Given the description of an element on the screen output the (x, y) to click on. 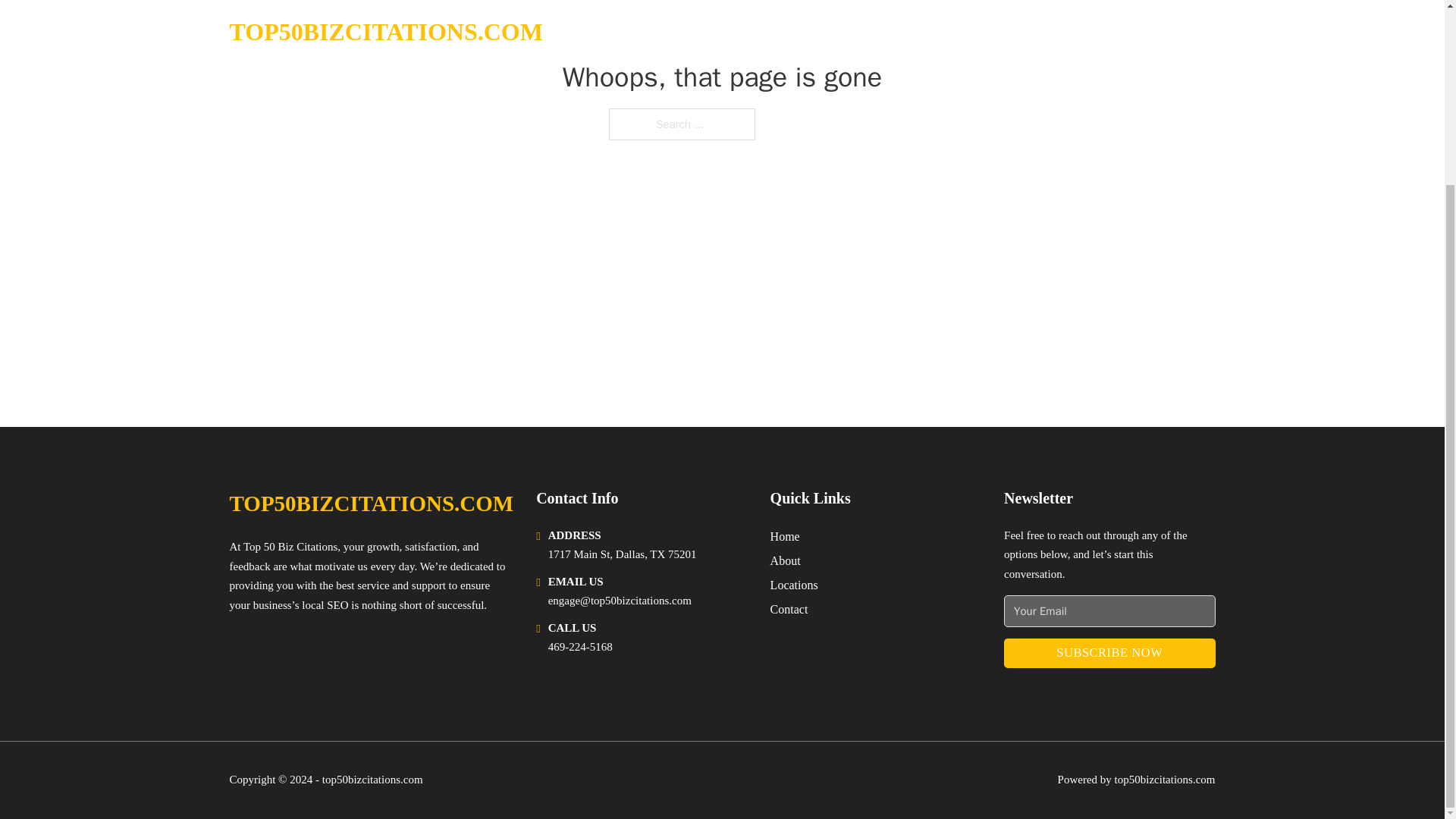
TOP50BIZCITATIONS.COM (370, 503)
About (785, 560)
Contact (789, 608)
Locations (794, 584)
SUBSCRIBE NOW (1109, 653)
469-224-5168 (580, 646)
Home (784, 536)
